Given the description of an element on the screen output the (x, y) to click on. 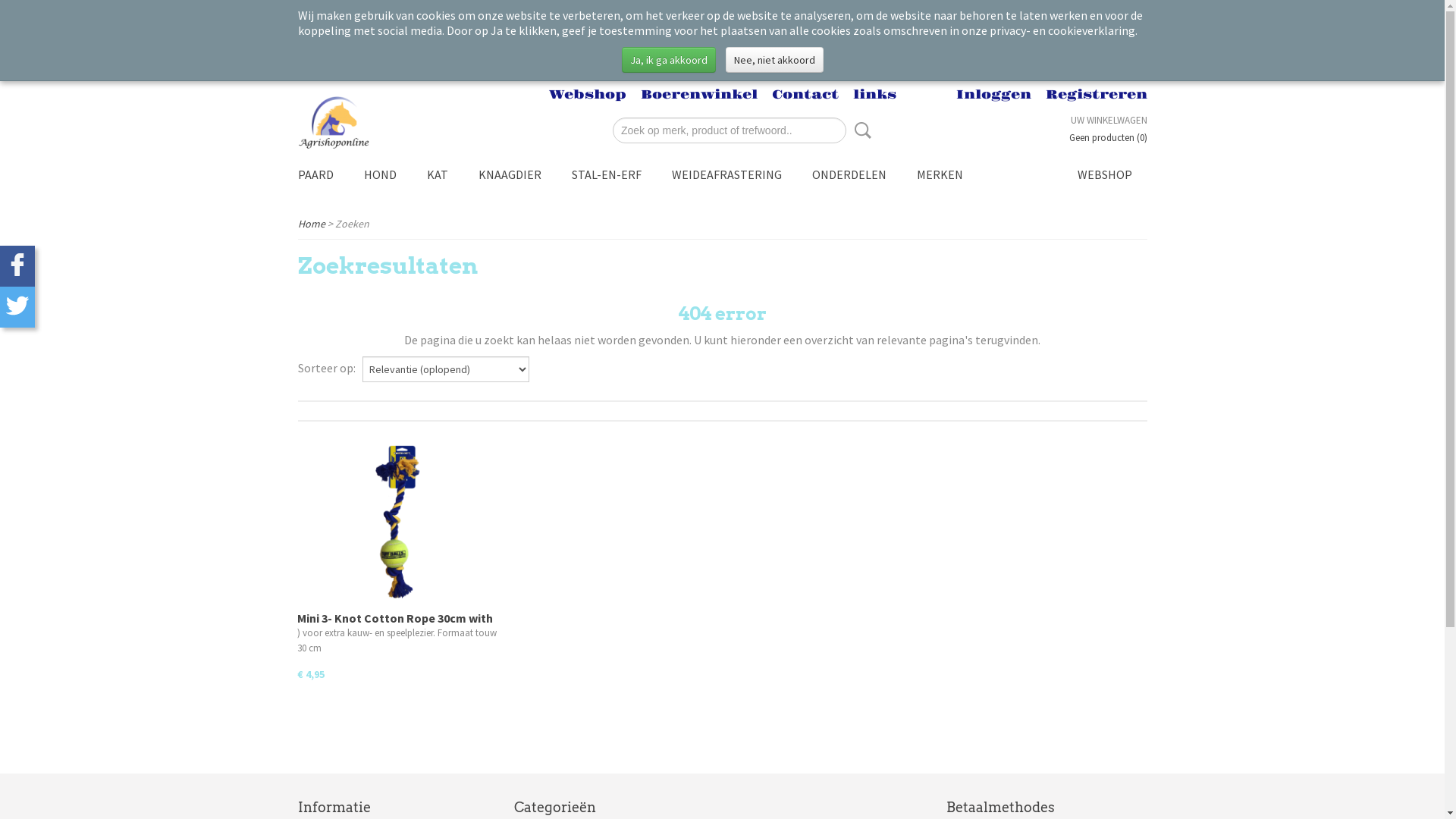
Ja, ik ga akkoord Element type: text (668, 59)
Deel deze pagina op Facebook Element type: hover (17, 265)
ONDERDELEN Element type: text (848, 174)
WEIDEAFRASTERING Element type: text (726, 174)
Deel deze pagina op Twitter Element type: hover (17, 306)
Webshop Element type: text (587, 94)
Boerenwinkel Element type: text (698, 94)
UW WINKELWAGEN Element type: text (1108, 119)
Zoeken Element type: text (859, 130)
KAT Element type: text (436, 174)
MERKEN Element type: text (938, 174)
PAARD Element type: text (315, 174)
Nee, niet akkoord Element type: text (773, 59)
Home Element type: text (310, 223)
KNAAGDIER Element type: text (508, 174)
WEBSHOP Element type: text (1103, 174)
HOND Element type: text (379, 174)
links Element type: text (873, 94)
Contact Element type: text (804, 94)
Registreren Element type: text (1095, 94)
Inloggen Element type: text (992, 94)
STAL-EN-ERF Element type: text (606, 174)
